Given the description of an element on the screen output the (x, y) to click on. 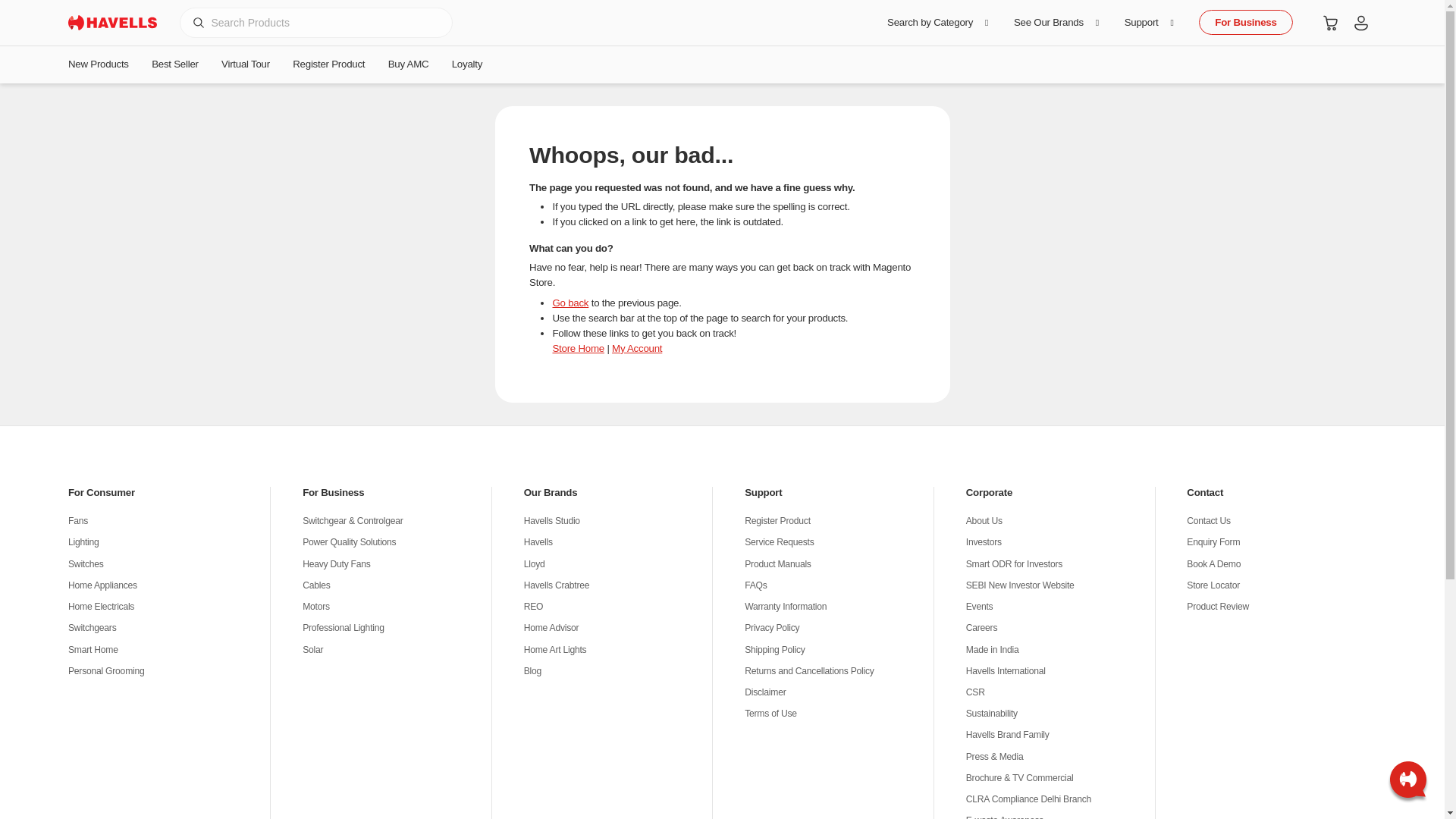
Register Product (328, 64)
Buy AMC (407, 64)
New Products (103, 64)
Logo (112, 22)
Loyalty Program (468, 64)
Search (197, 22)
Virtual Tour (245, 64)
Best Seller (174, 64)
